Given the description of an element on the screen output the (x, y) to click on. 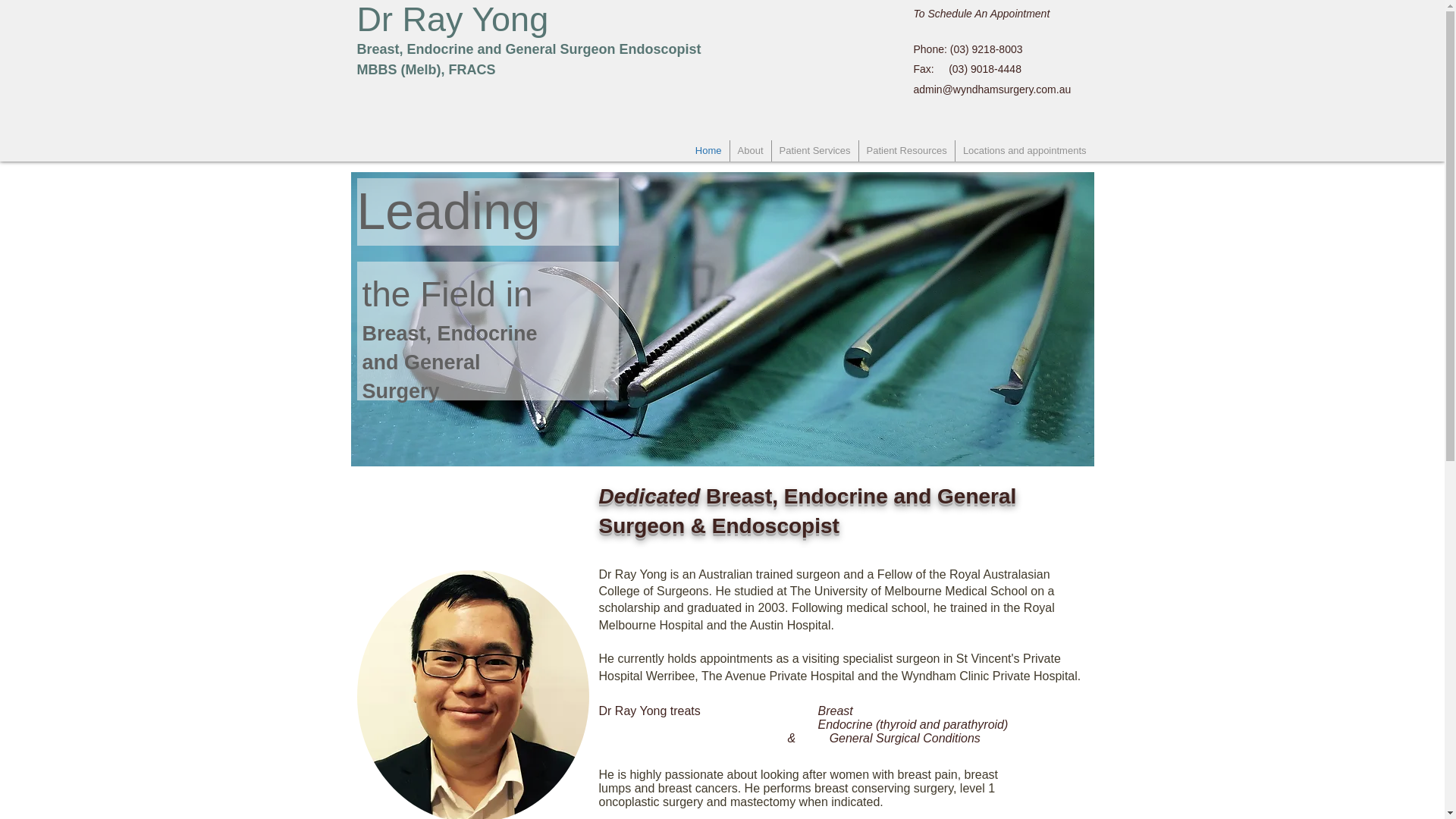
Patient Resources (906, 150)
Locations and appointments (1024, 150)
About (749, 150)
Patient Services (815, 150)
Phone: (929, 49)
Home (708, 150)
Dr Ray Yong Breast Surgeon.JPG (472, 694)
